Given the description of an element on the screen output the (x, y) to click on. 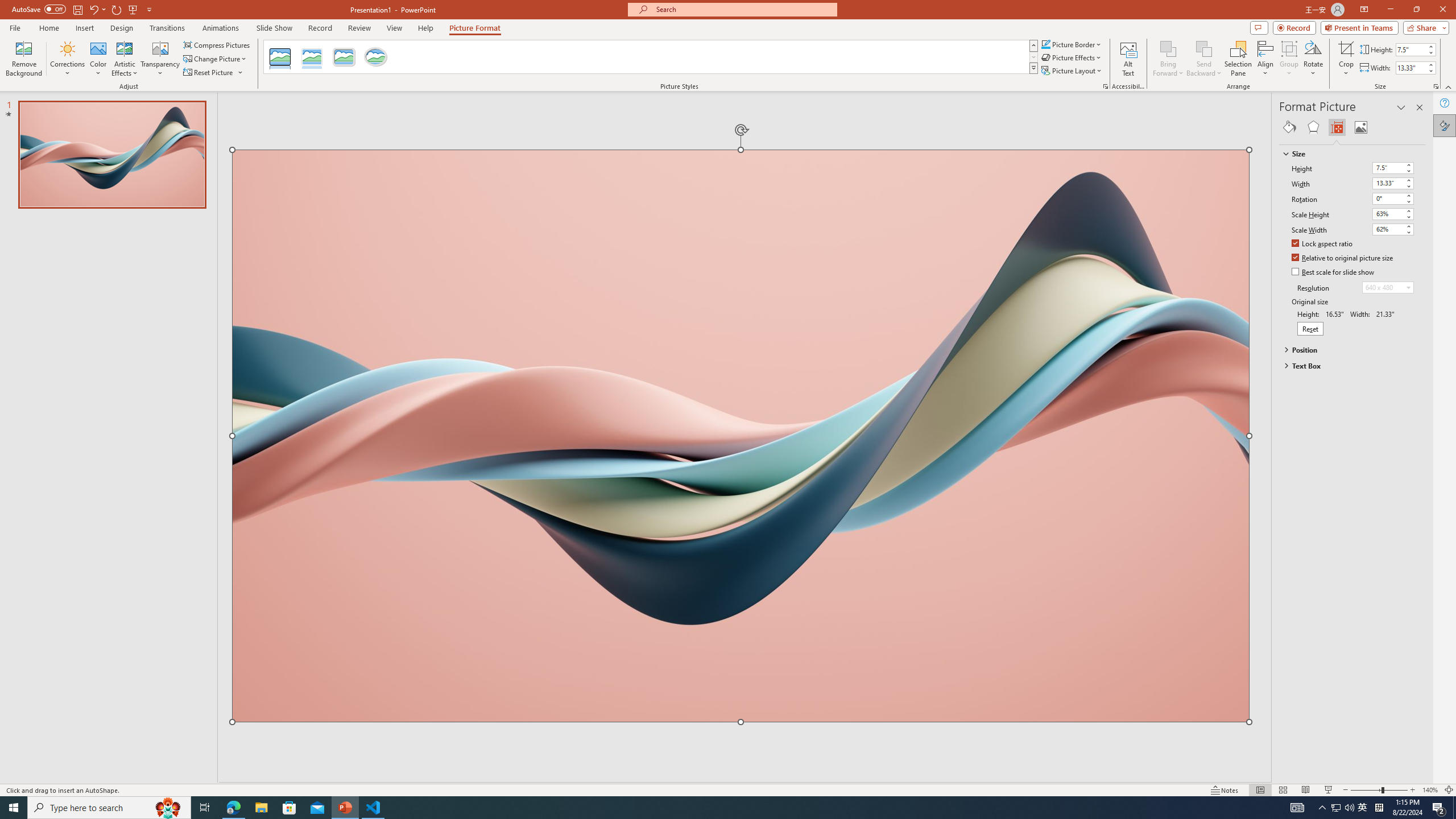
Metal Oval (375, 56)
AutomationID: PictureStylesGallery (650, 56)
Height (1393, 167)
Align (1264, 58)
Picture Border (1071, 44)
Reflected Bevel, Black (280, 56)
